Given the description of an element on the screen output the (x, y) to click on. 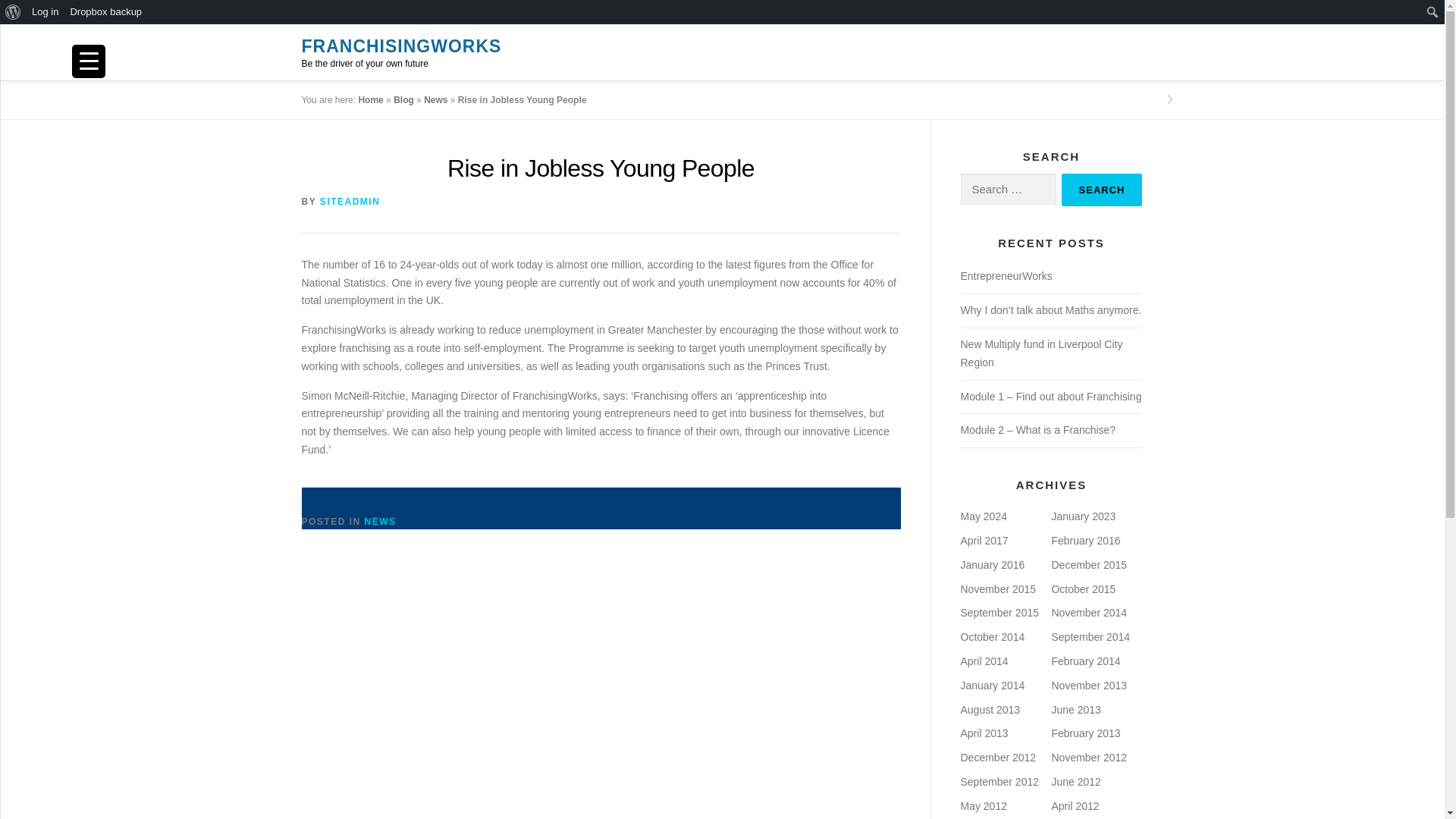
Search (1101, 189)
FRANCHISINGWORKS (401, 46)
Search (1101, 189)
Log in (45, 12)
New Multiply fund in Liverpool City Region (1040, 353)
January 2023 (1083, 516)
EntrepreneurWorks (1005, 275)
Dropbox backup (106, 12)
NEWS (380, 521)
Blog (403, 100)
News (434, 100)
Search (15, 12)
SITEADMIN (350, 201)
May 2024 (982, 516)
Home (370, 100)
